Given the description of an element on the screen output the (x, y) to click on. 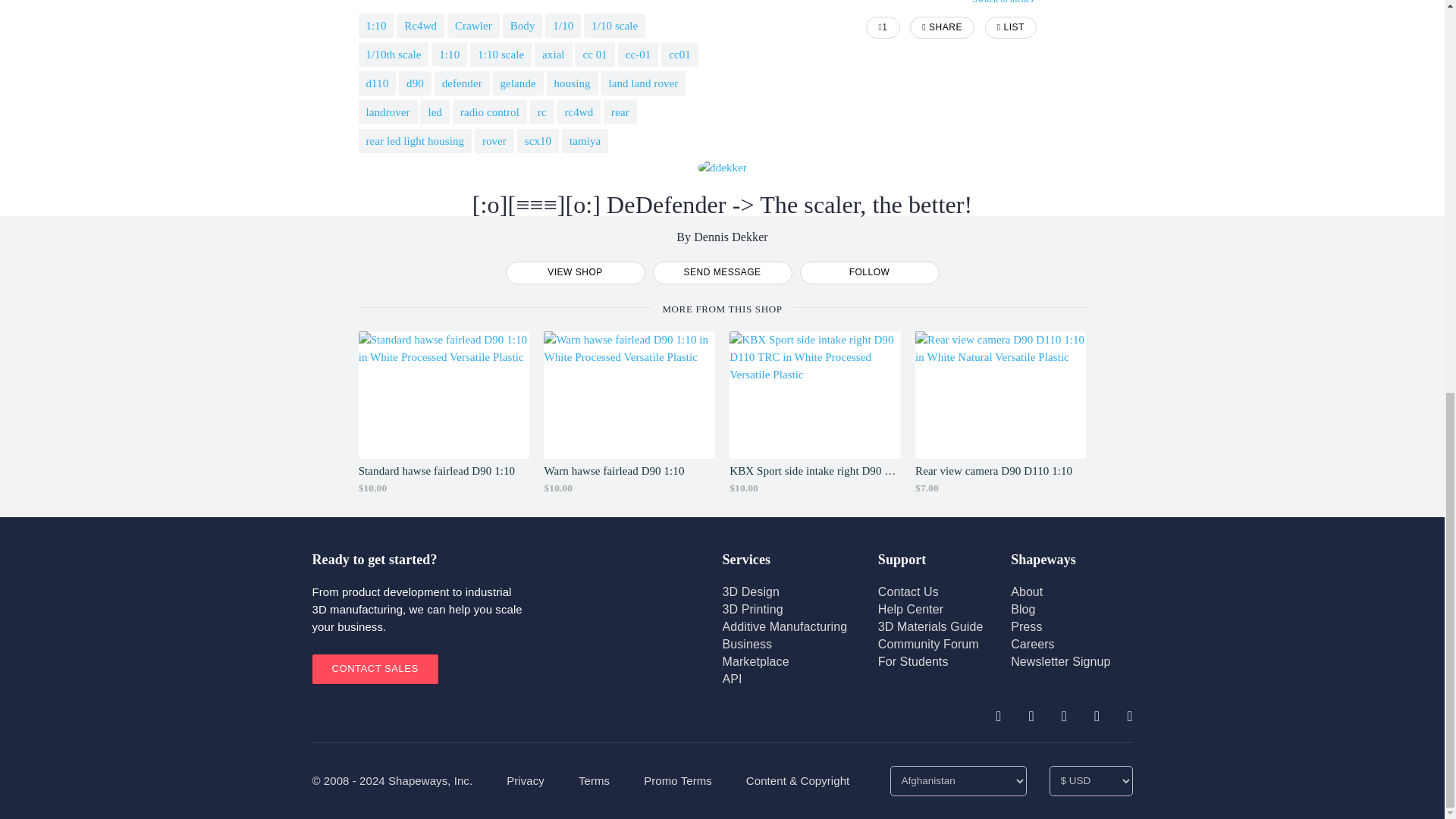
Warn hawse fairlead D90 1:10 (629, 421)
Standard hawse fairlead D90 1:10 (443, 421)
KBX Sport side intake right D90 D110 TRC (814, 421)
Rear view camera D90 D110 1:10 (1000, 421)
